Given the description of an element on the screen output the (x, y) to click on. 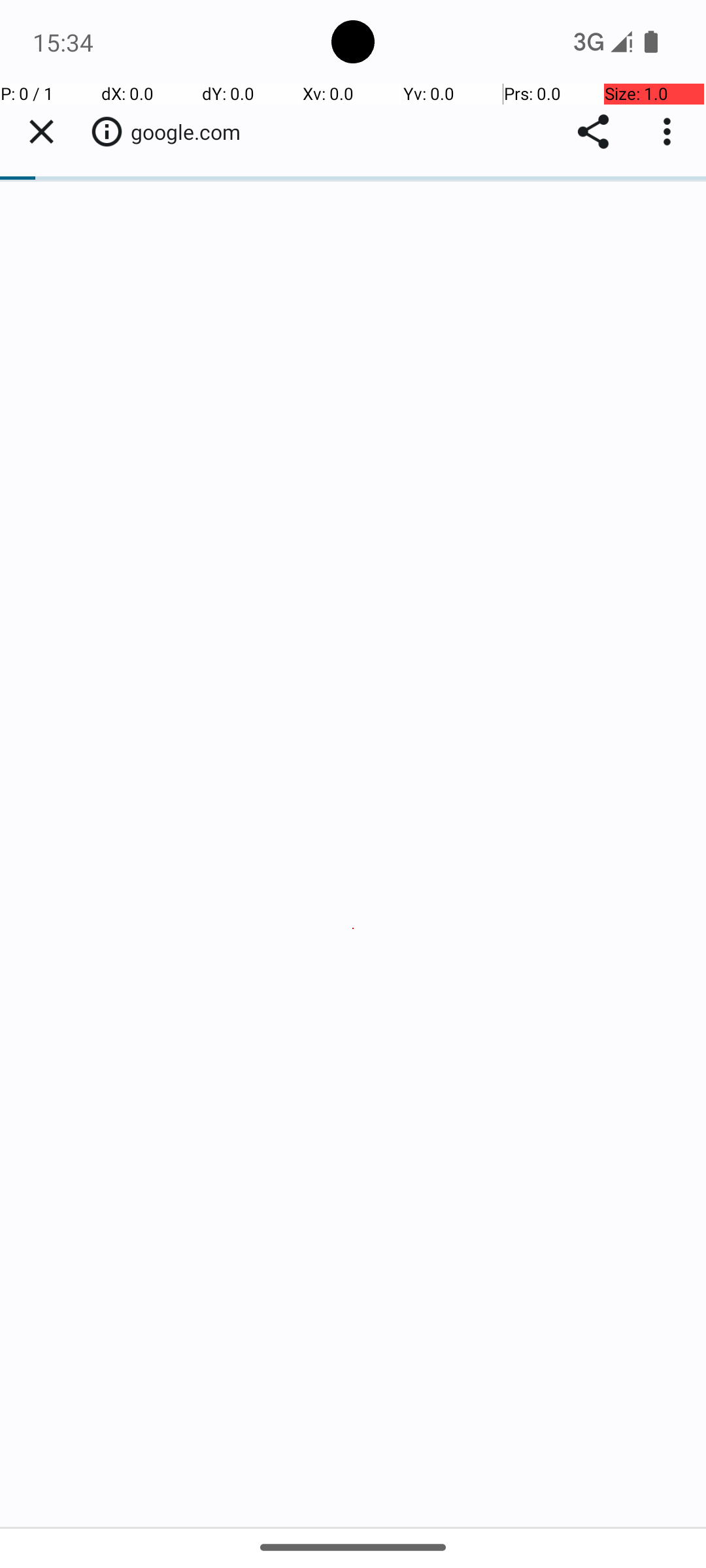
Web View Element type: android.widget.FrameLayout (353, 804)
Close tab Element type: android.widget.ImageButton (41, 131)
Your connection to this site is not secure Element type: android.widget.ImageButton (106, 131)
Share Element type: android.widget.ImageButton (593, 131)
More options Element type: android.widget.ImageButton (670, 131)
google.com Element type: android.widget.TextView (192, 131)
